Given the description of an element on the screen output the (x, y) to click on. 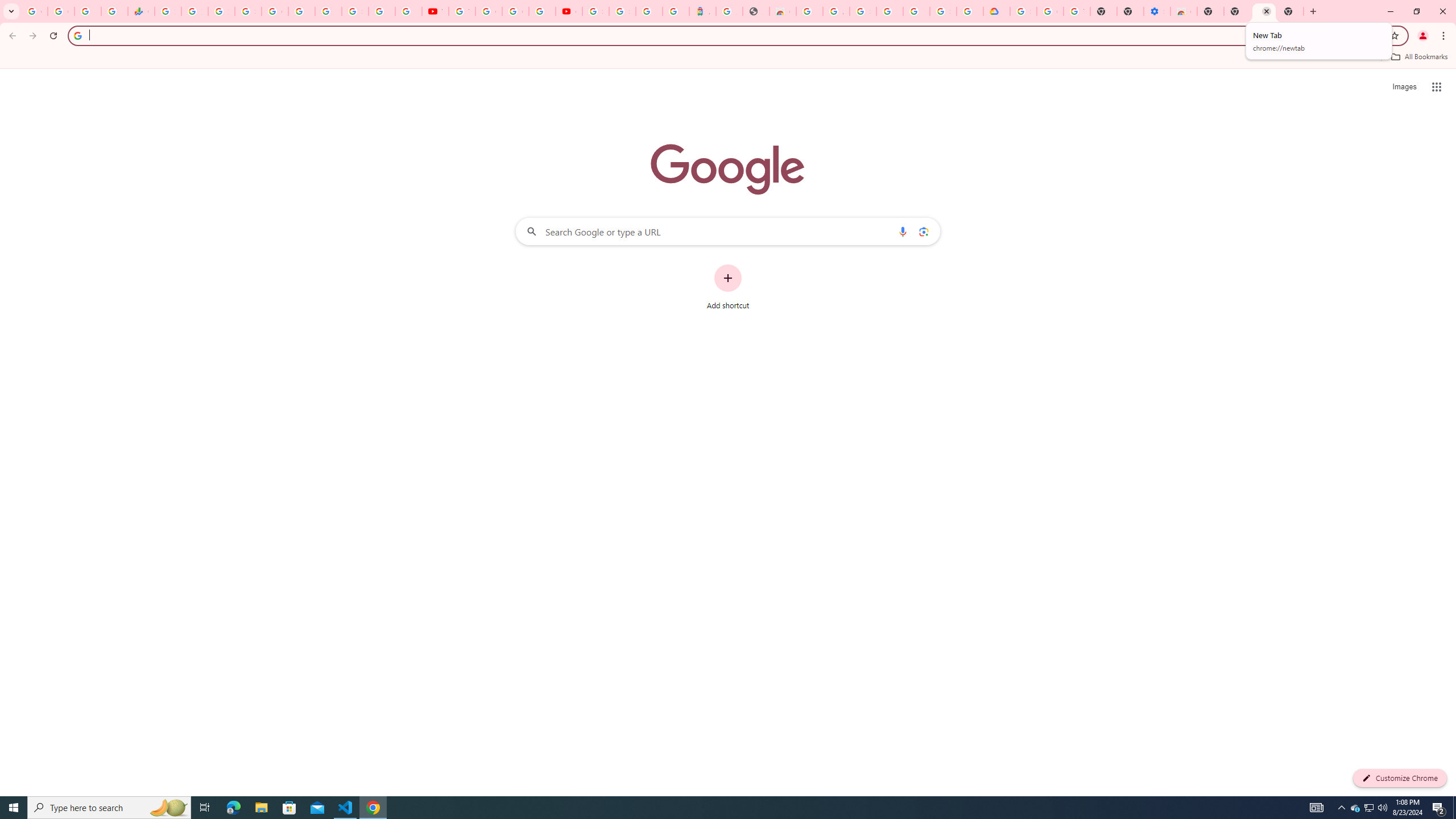
Sign in - Google Accounts (622, 11)
Sign in - Google Accounts (943, 11)
YouTube (435, 11)
Privacy Checkup (408, 11)
YouTube (462, 11)
